Given the description of an element on the screen output the (x, y) to click on. 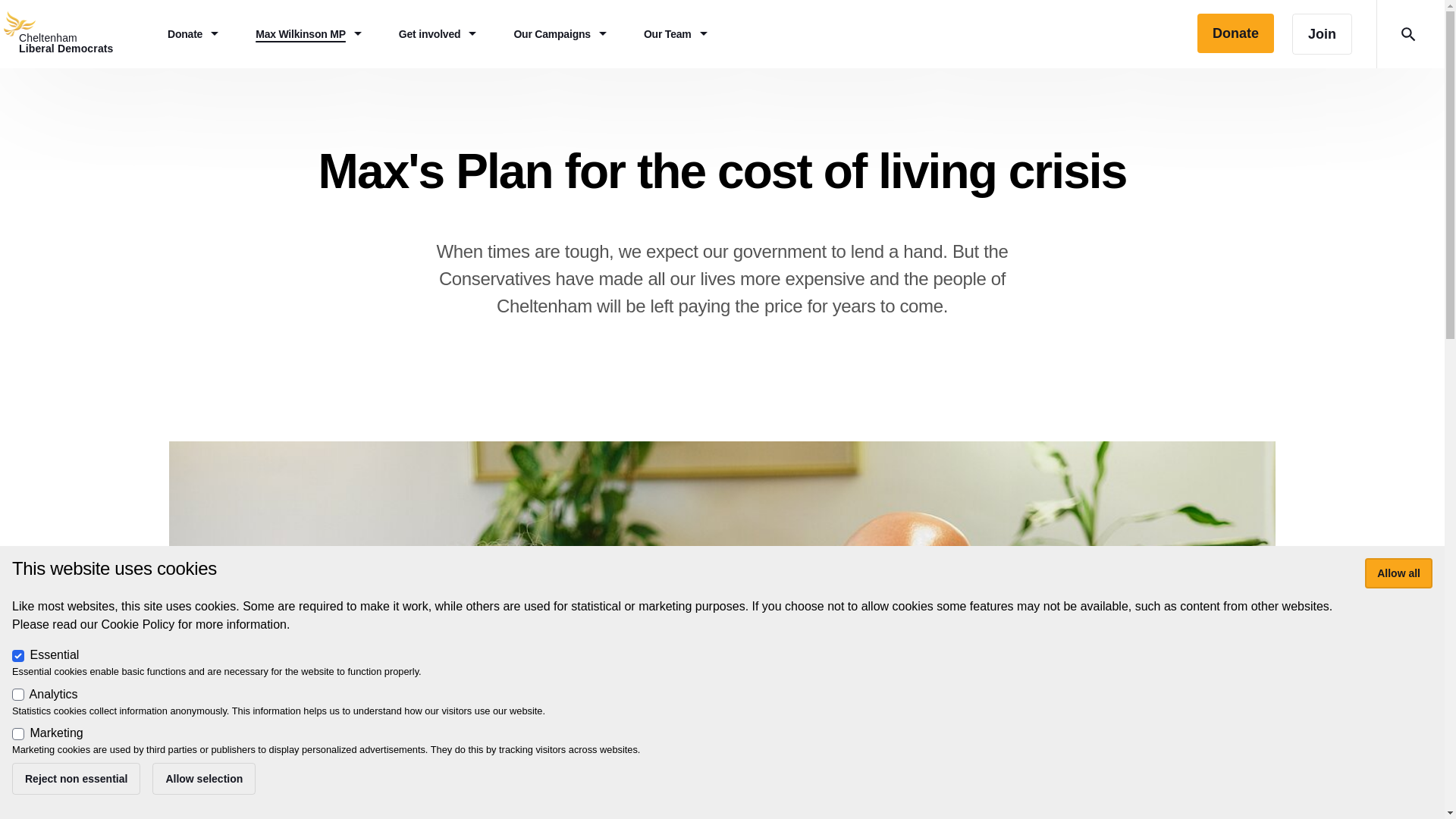
Allow all (1398, 572)
1 (17, 734)
Our Team (678, 33)
1 (17, 655)
Reject non essential (75, 33)
Join (75, 778)
Our Campaigns (1322, 33)
Donate (562, 33)
Get involved (195, 33)
